Given the description of an element on the screen output the (x, y) to click on. 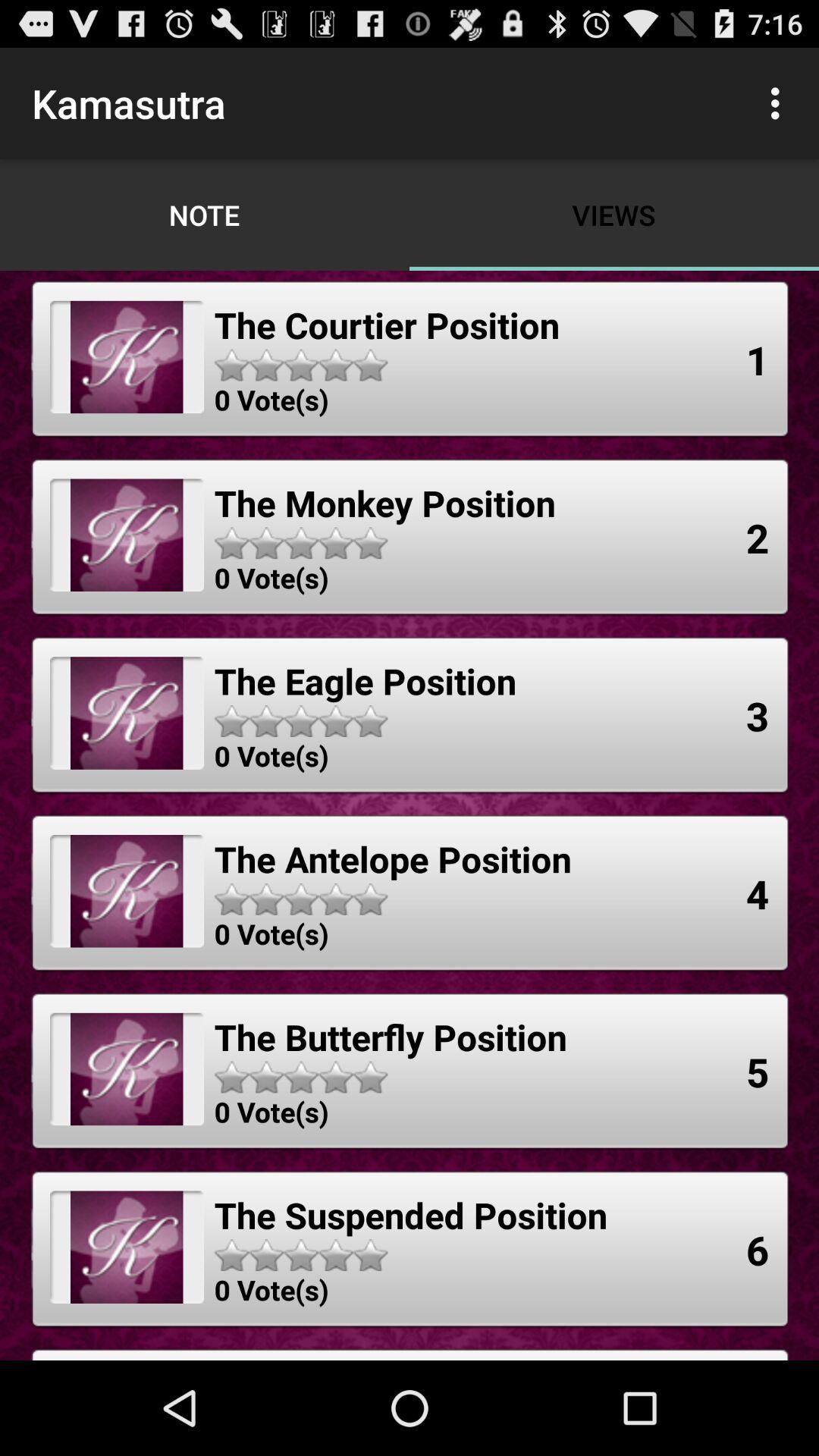
tap app next to the suspended position icon (757, 1249)
